Given the description of an element on the screen output the (x, y) to click on. 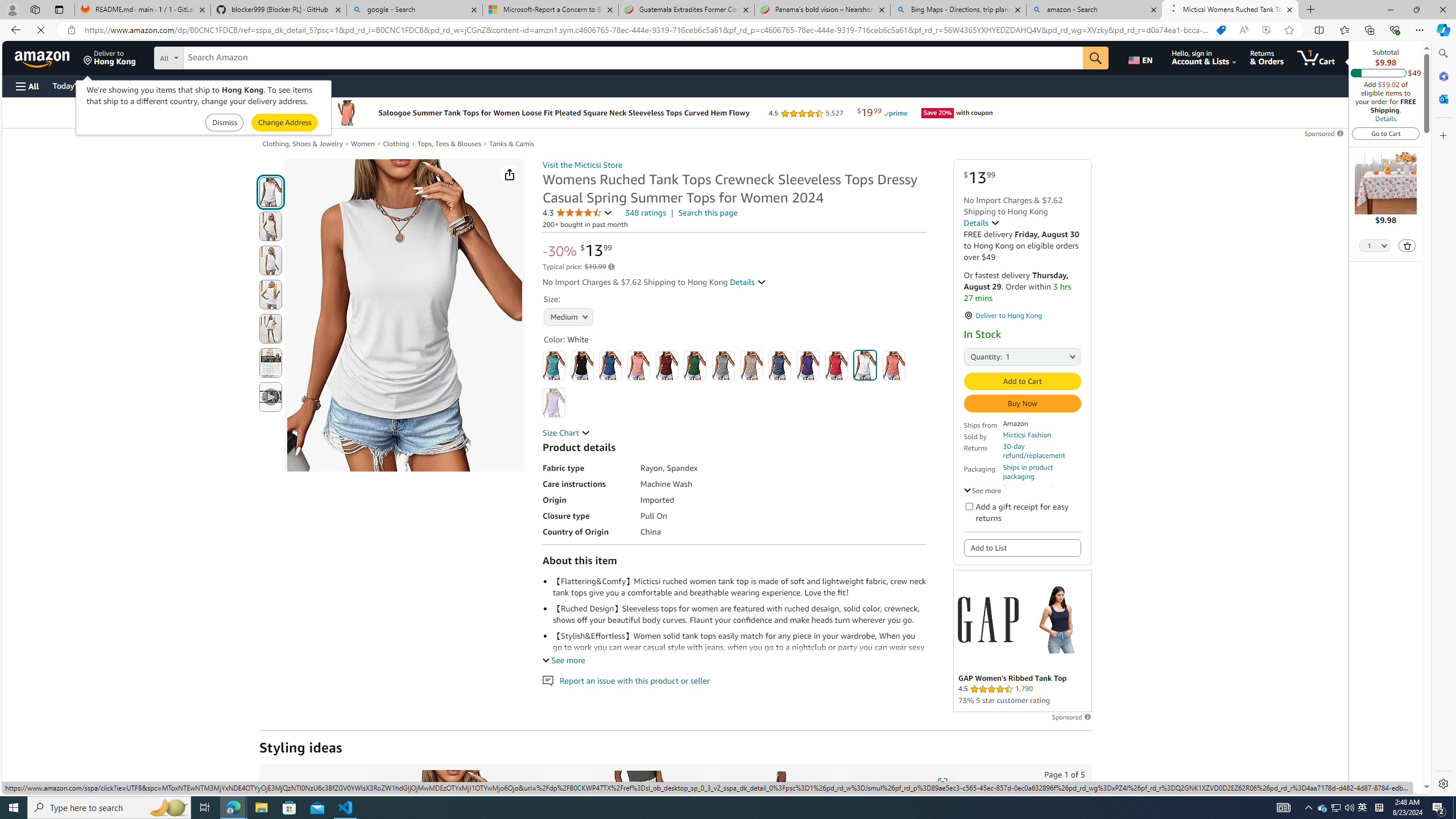
google - Search (414, 9)
Coral (638, 365)
Learn more about Amazon pricing and savings (610, 266)
Micticsi Fashion (1027, 434)
Light Purple (553, 402)
AutomationID: native_dropdown_selected_size_name (567, 315)
